Given the description of an element on the screen output the (x, y) to click on. 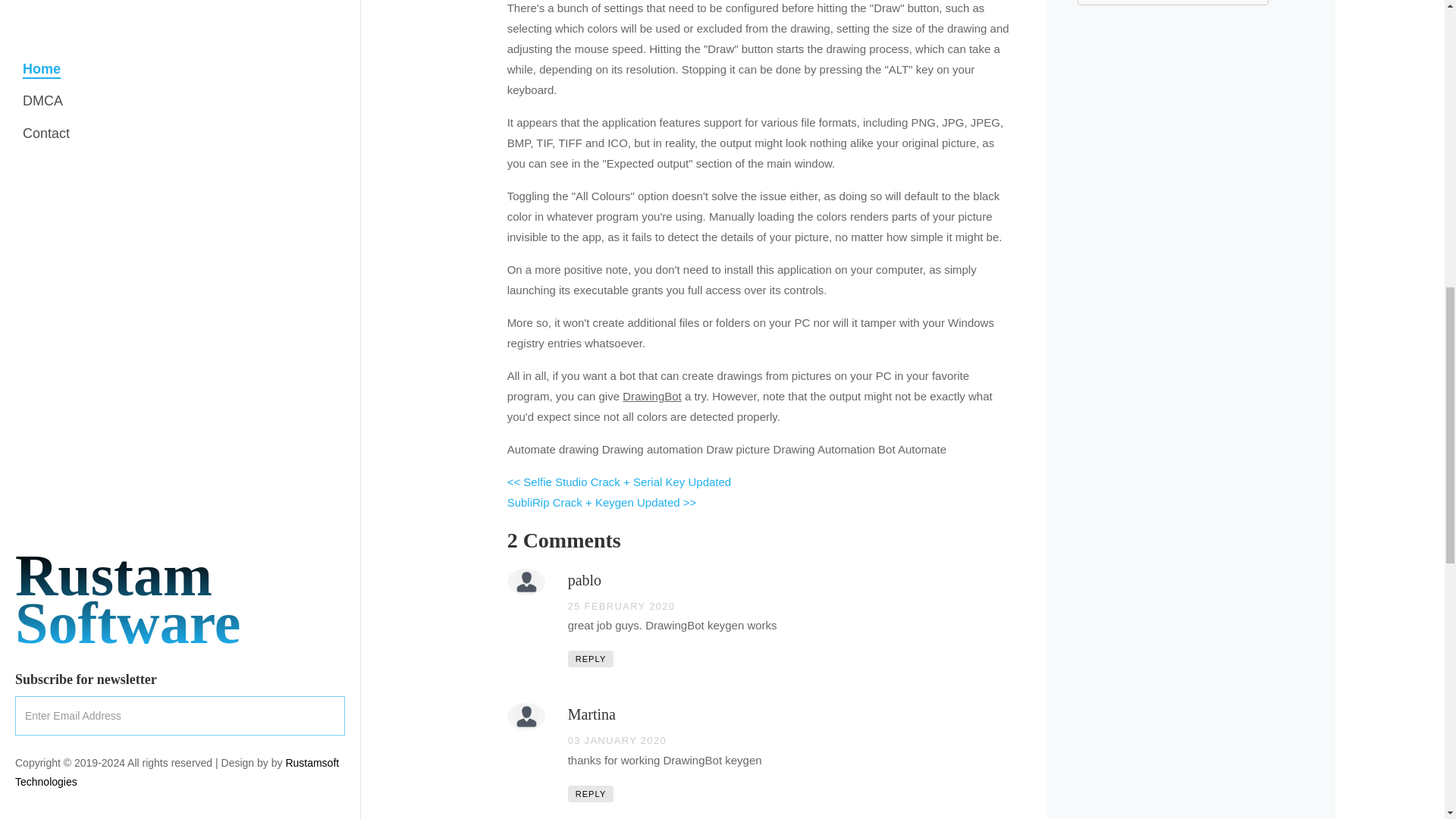
Selfie Studio 3.03 Crack Plus Serial Number (619, 481)
REPLY (590, 658)
REPLY (590, 793)
